Given the description of an element on the screen output the (x, y) to click on. 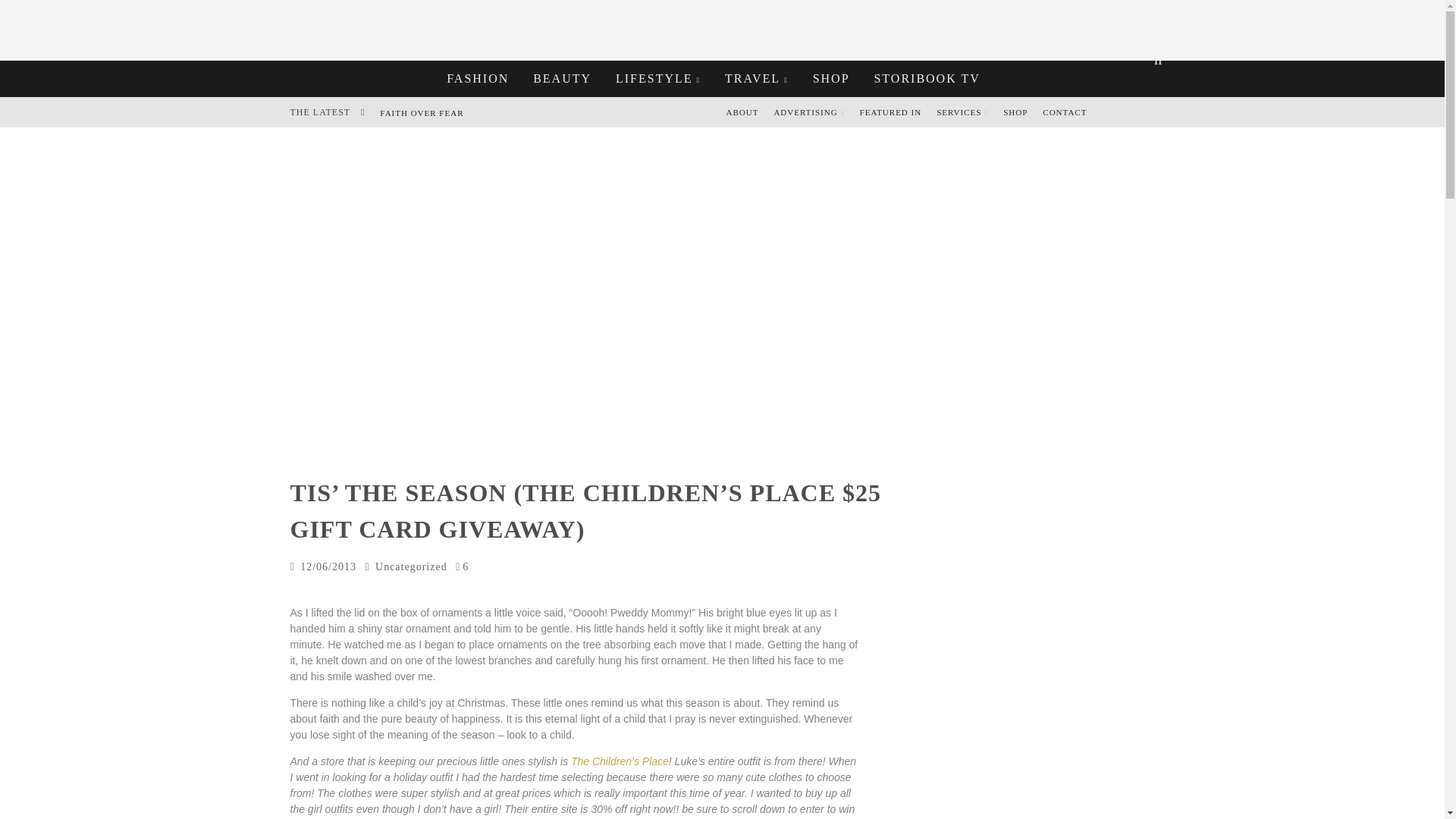
BEAUTY (561, 78)
Faith Over Fear (421, 112)
View all posts in Uncategorized (410, 566)
FASHION (477, 78)
